Given the description of an element on the screen output the (x, y) to click on. 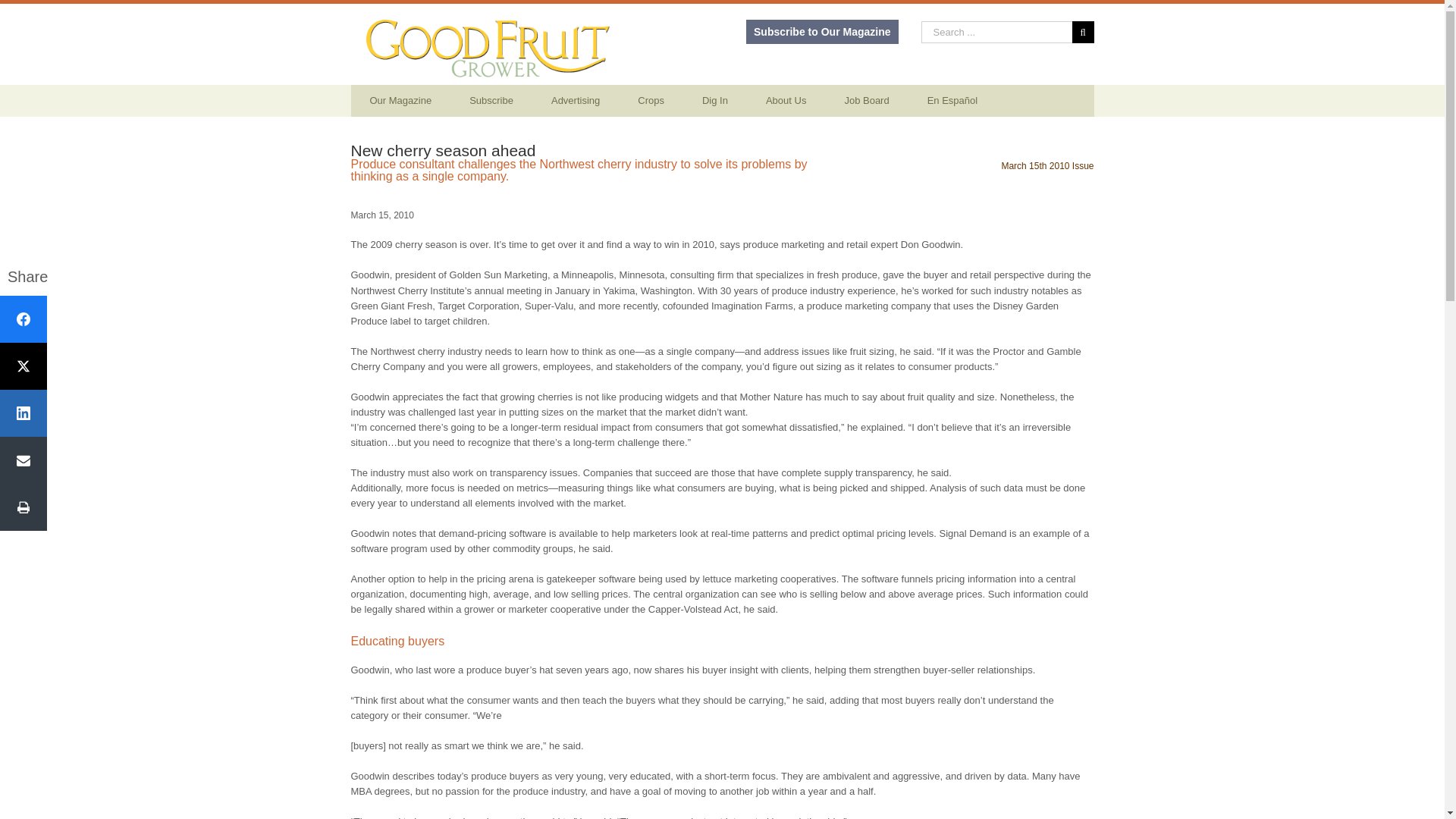
Subscribe to Our Magazine (821, 31)
Advertising (575, 101)
About Us (785, 101)
Our Magazine (400, 101)
Subscribe (490, 101)
